Given the description of an element on the screen output the (x, y) to click on. 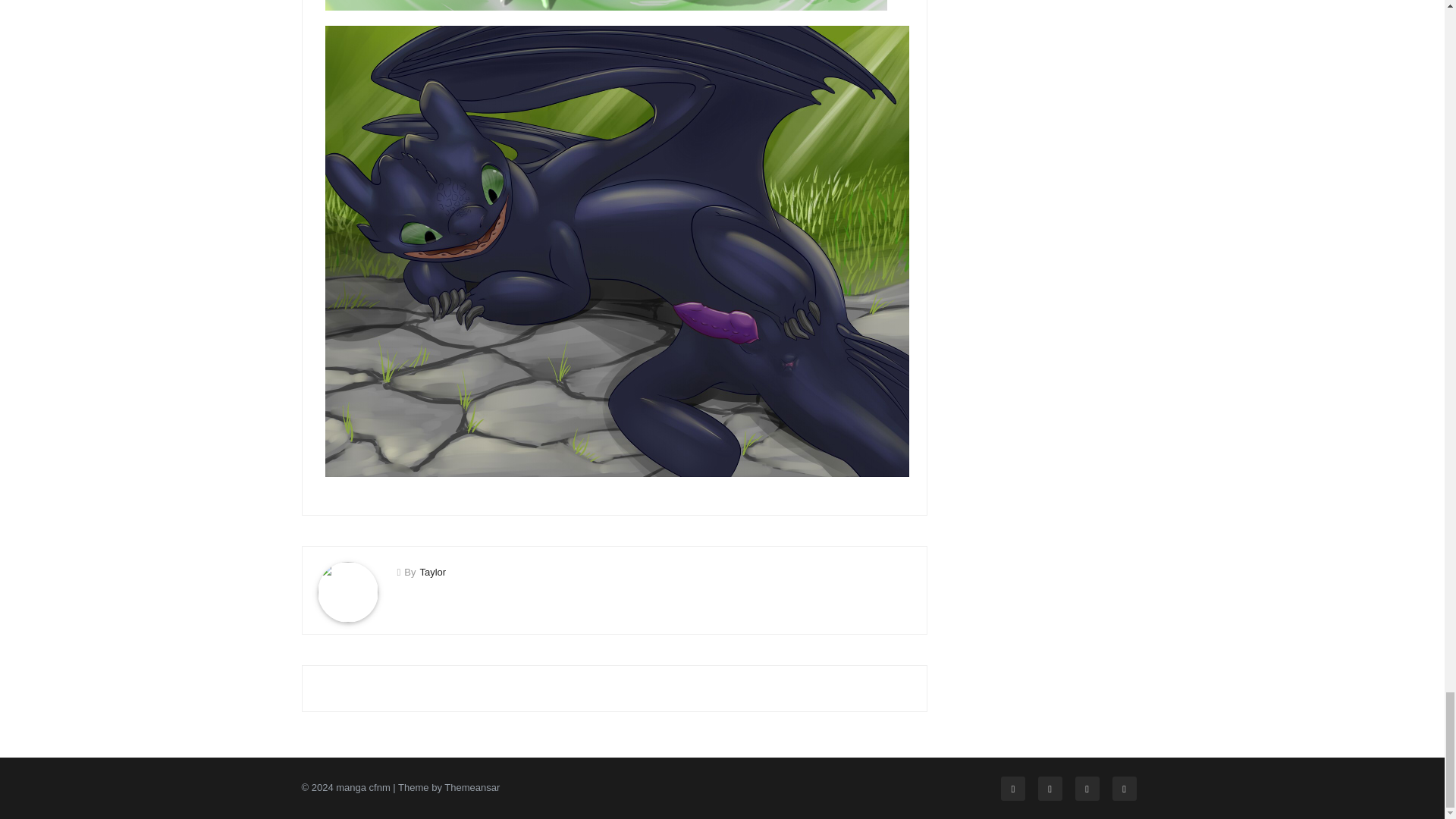
Taylor (432, 572)
